Given the description of an element on the screen output the (x, y) to click on. 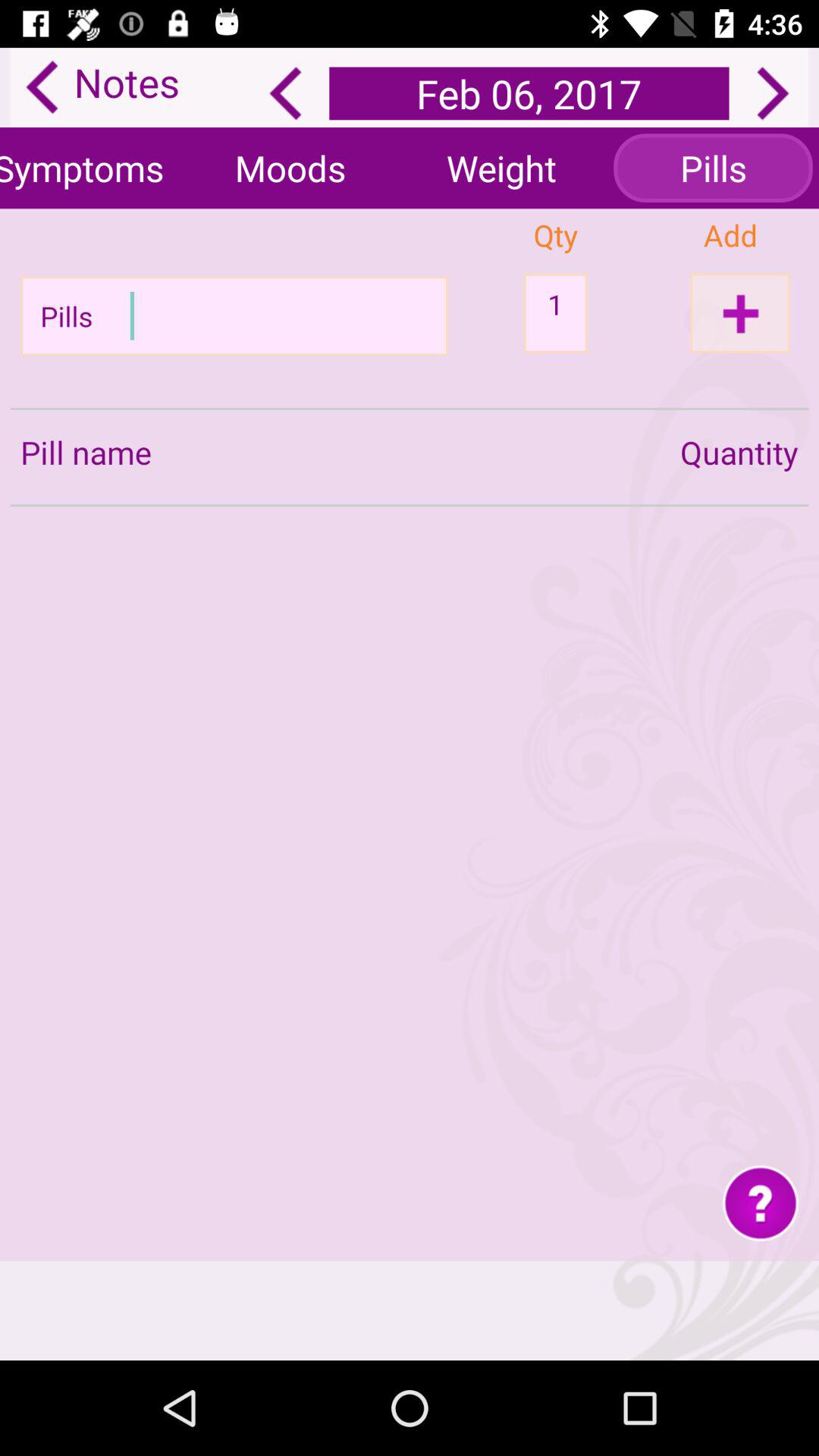
add more file (739, 313)
